Given the description of an element on the screen output the (x, y) to click on. 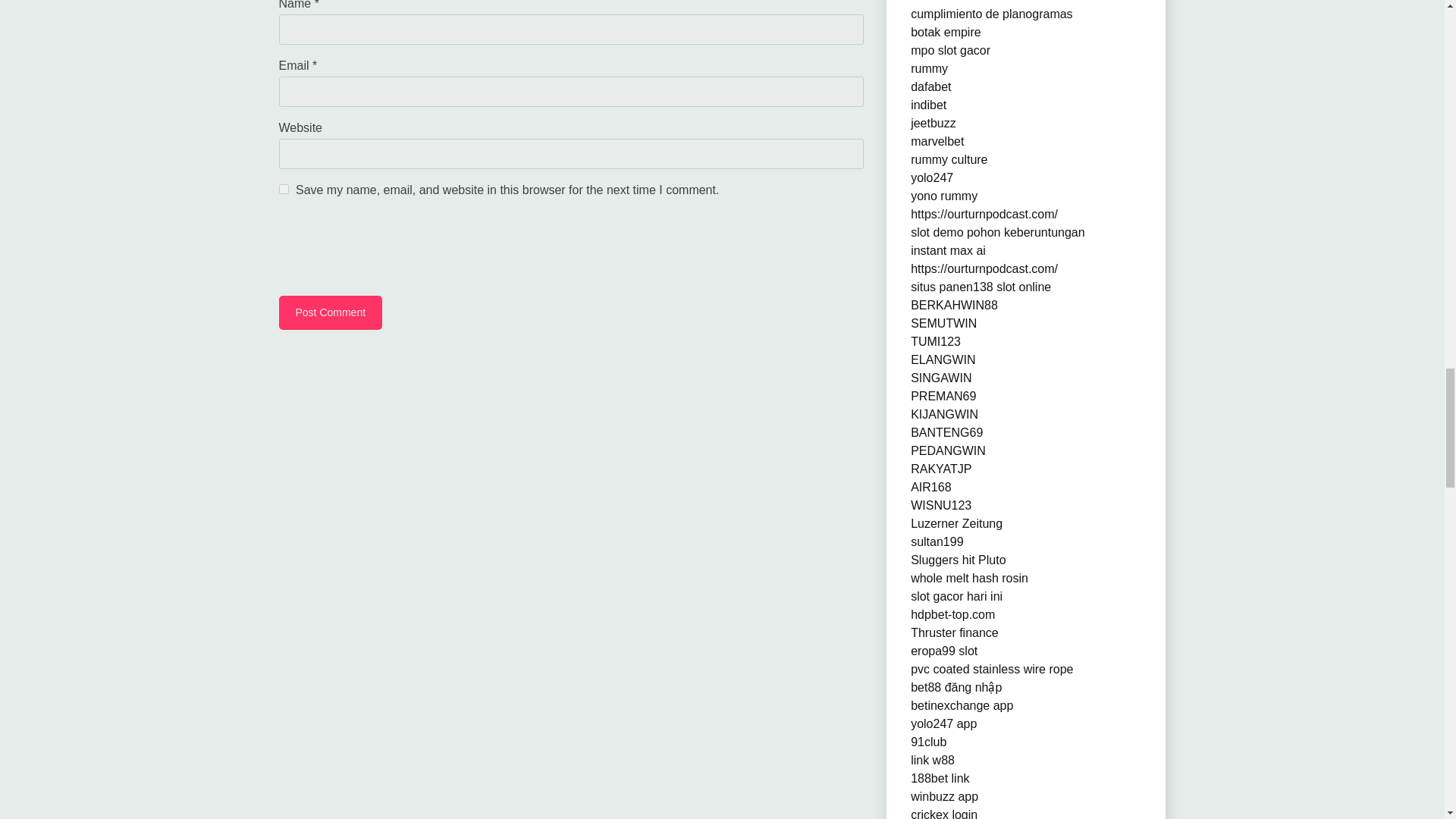
yes (283, 189)
reCAPTCHA (394, 249)
Post Comment (330, 312)
Post Comment (330, 312)
